Given the description of an element on the screen output the (x, y) to click on. 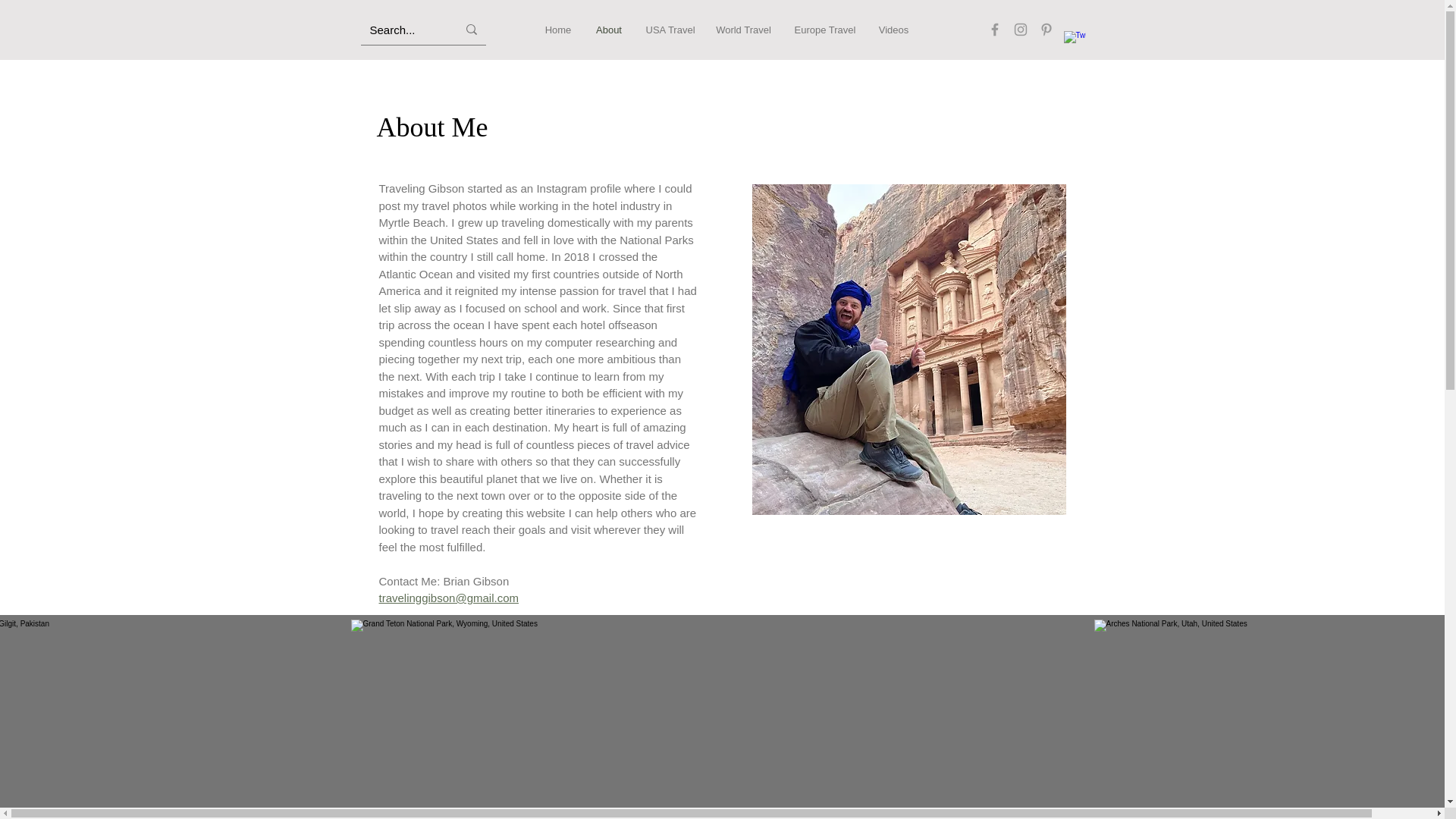
Home (557, 29)
World Travel (743, 29)
Videos (893, 29)
USA Travel (668, 29)
About (608, 29)
Europe Travel (824, 29)
